Given the description of an element on the screen output the (x, y) to click on. 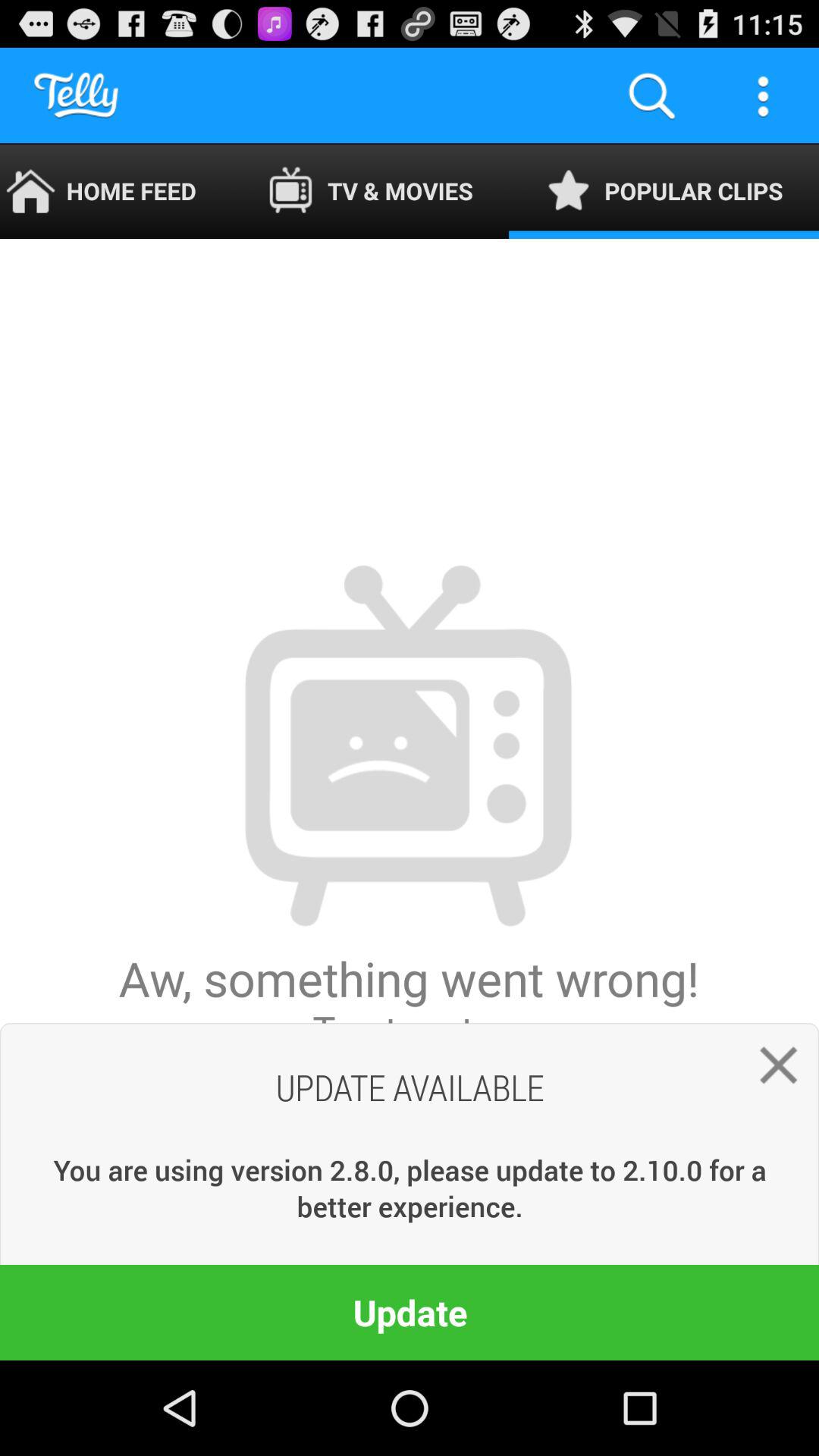
launch the aw something went app (409, 799)
